Given the description of an element on the screen output the (x, y) to click on. 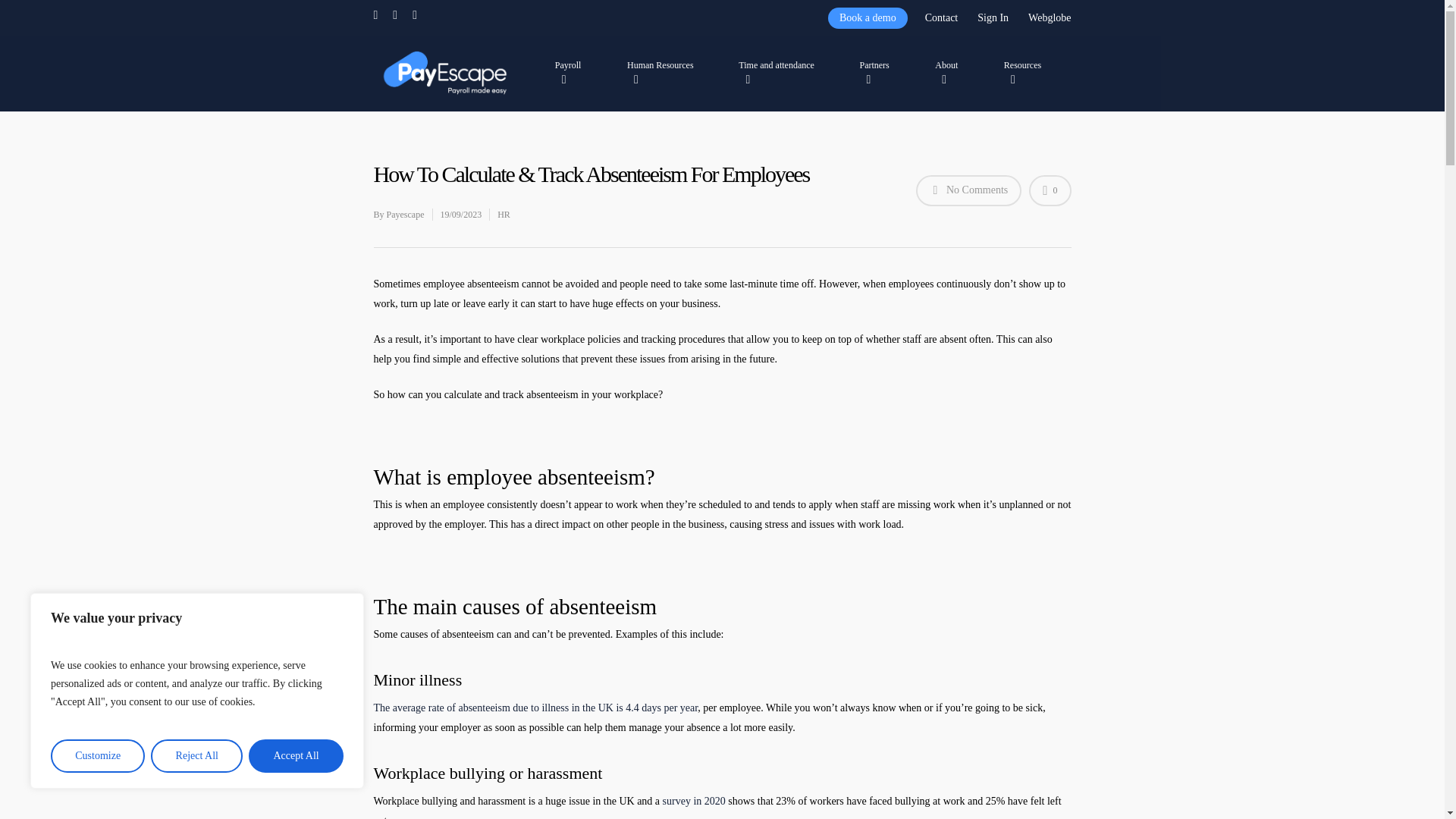
Payroll (575, 72)
Accept All (295, 756)
Sign In (992, 17)
Love this (1049, 190)
Book a demo (867, 17)
Customize (97, 756)
Webglobe (1048, 17)
Posts by Payescape (406, 214)
Contact (941, 17)
Reject All (197, 756)
